Given the description of an element on the screen output the (x, y) to click on. 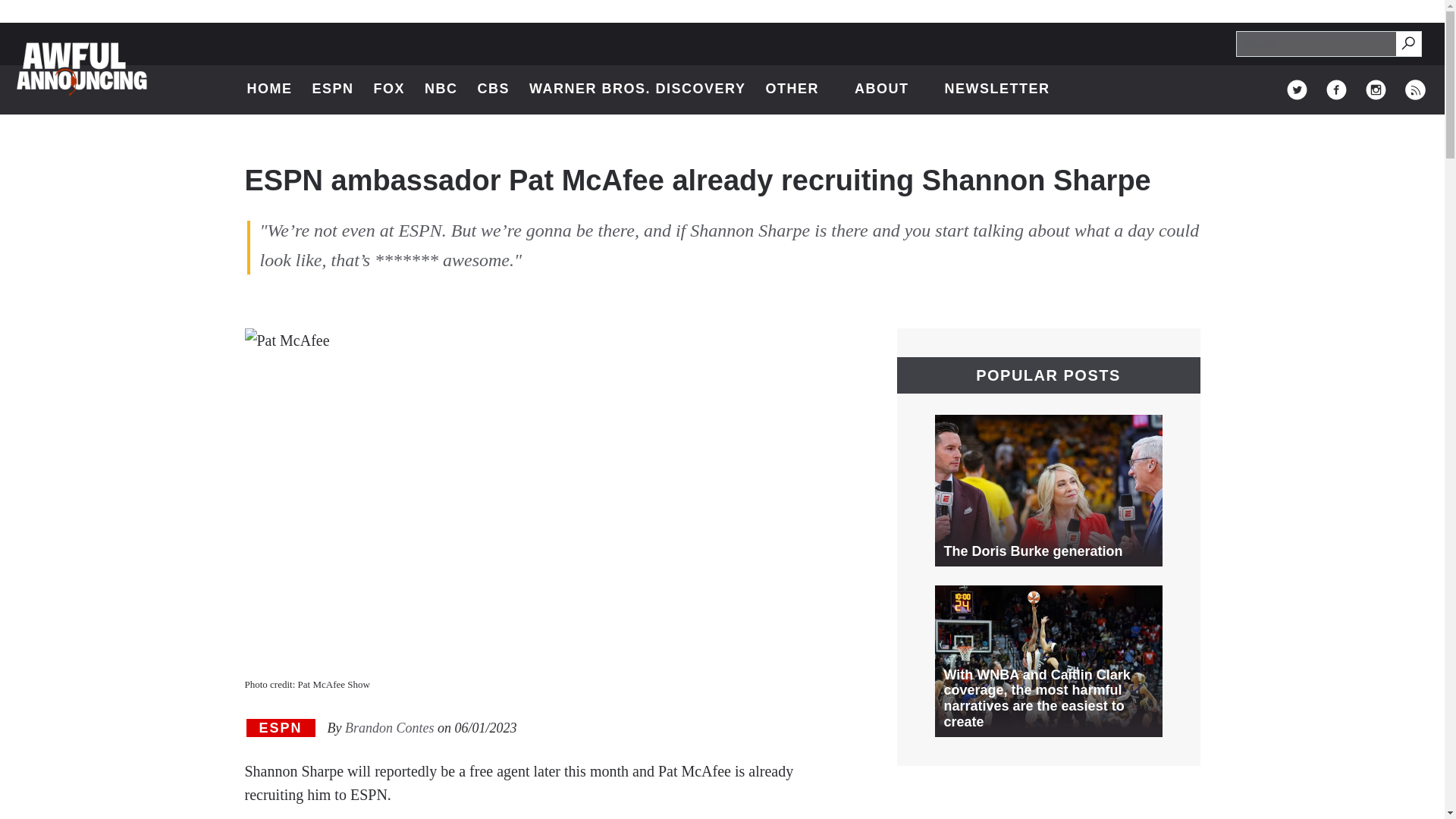
ABOUT (889, 89)
NBC (441, 89)
View all posts in ESPN (280, 728)
ESPN (332, 89)
FOX (390, 89)
Link to Facebook (1336, 89)
Link to Twitter (1296, 89)
CBS (493, 89)
NEWSLETTER (1409, 43)
OTHER (996, 89)
SEARCH (799, 89)
WARNER BROS. DISCOVERY (1407, 42)
Link to RSS (636, 89)
Link to Instagram (1414, 89)
